Given the description of an element on the screen output the (x, y) to click on. 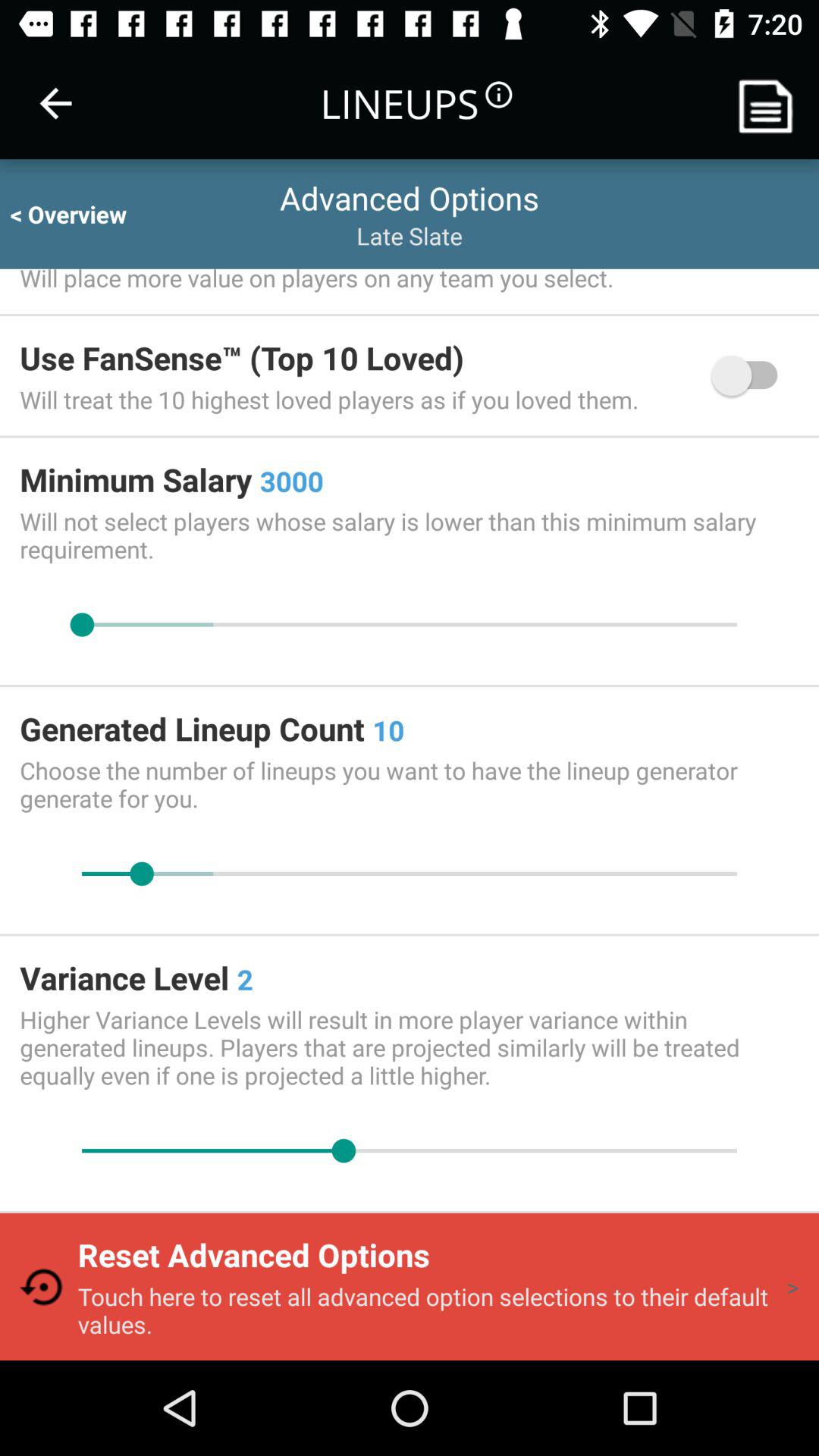
click the icon to the right of the will treat the item (751, 375)
